Given the description of an element on the screen output the (x, y) to click on. 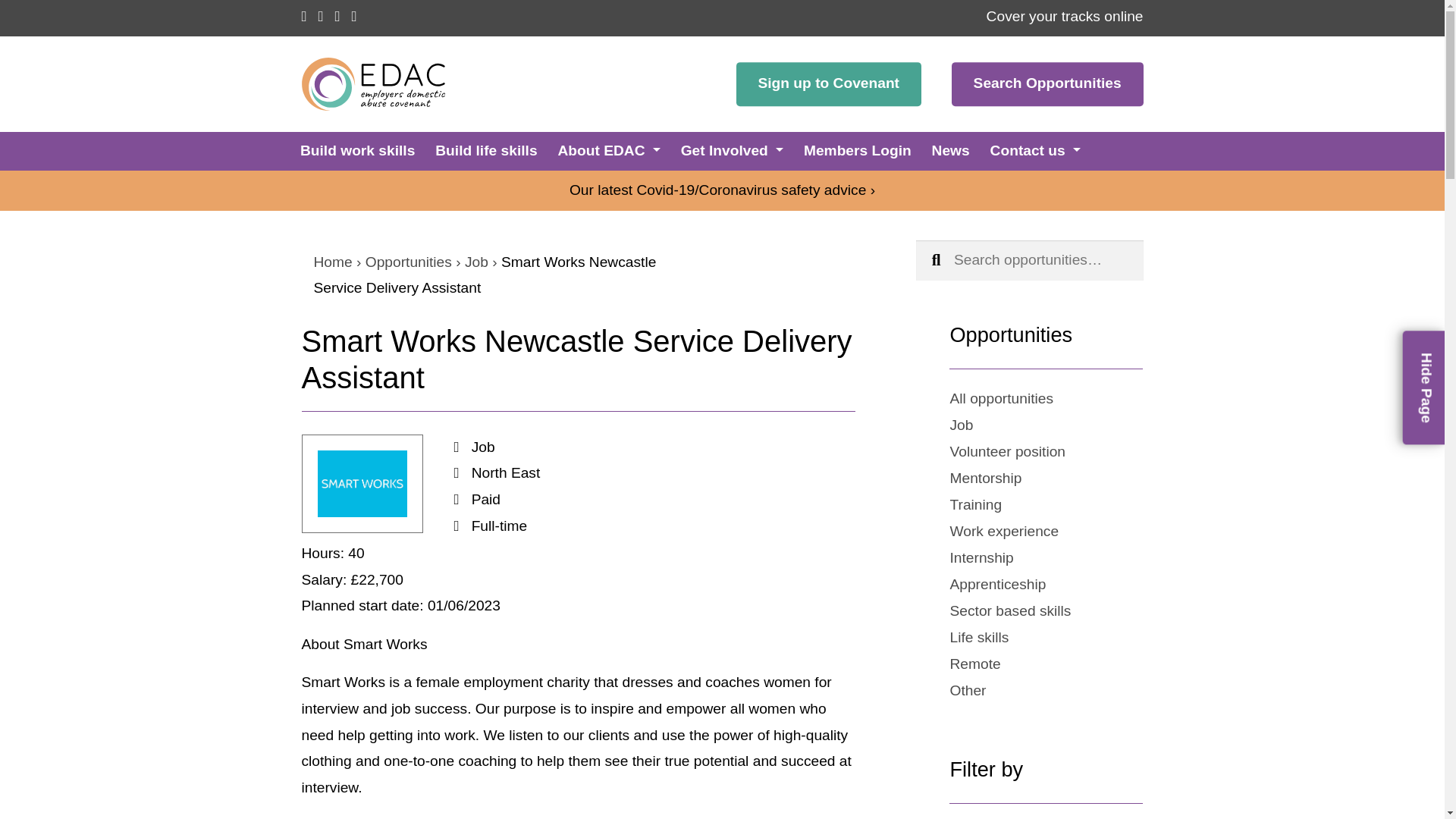
Job (483, 446)
Build life skills (486, 150)
Paid (485, 498)
Contact us (1035, 150)
Get Involved (732, 150)
About EDAC (608, 150)
Sign up to Covenant (828, 84)
News (950, 150)
Build work skills (356, 150)
Members Login (857, 150)
